Given the description of an element on the screen output the (x, y) to click on. 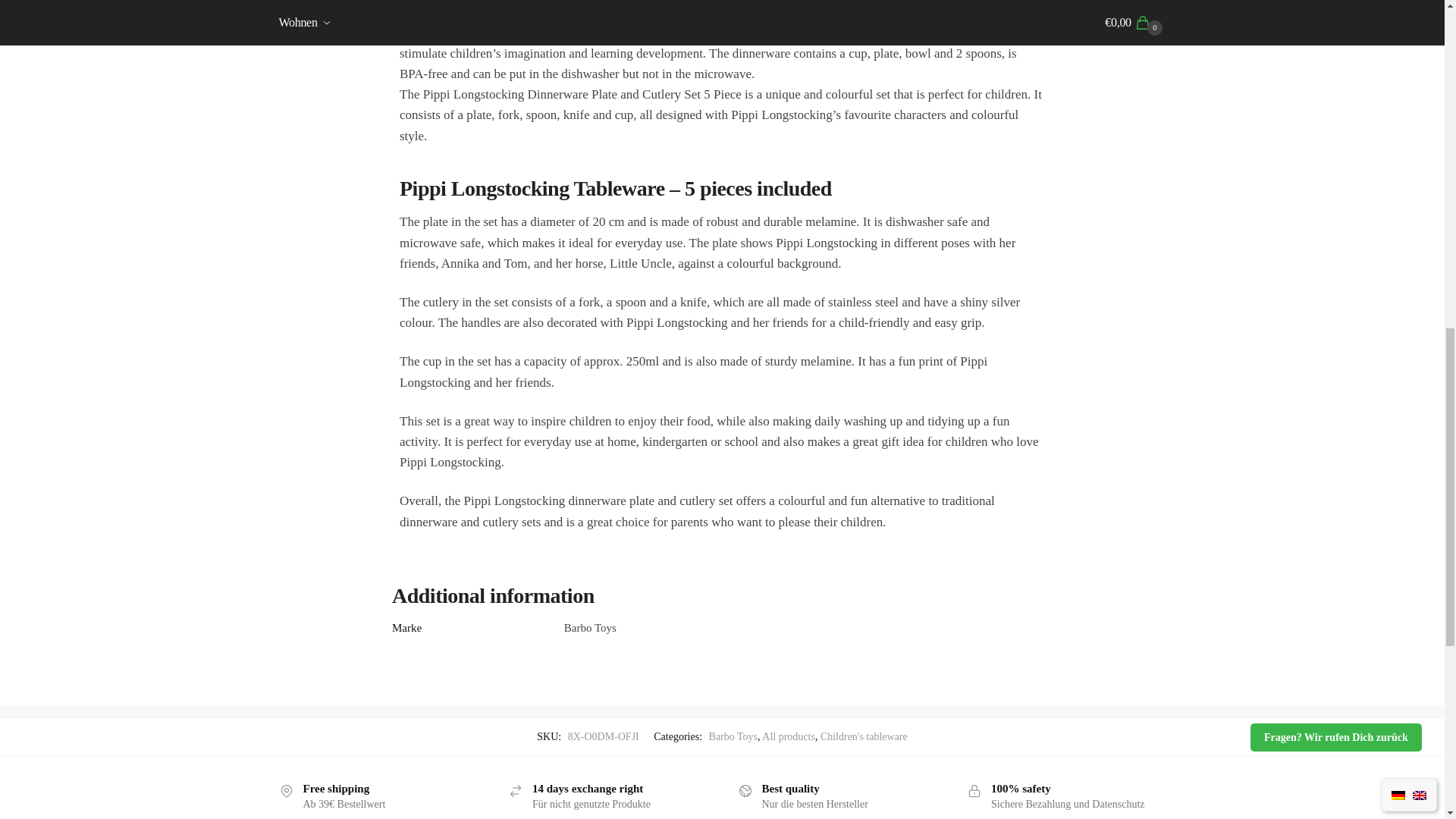
Children's tableware (864, 736)
Add to cart (1124, 203)
All products (788, 736)
Barbo Toys (733, 736)
